Given the description of an element on the screen output the (x, y) to click on. 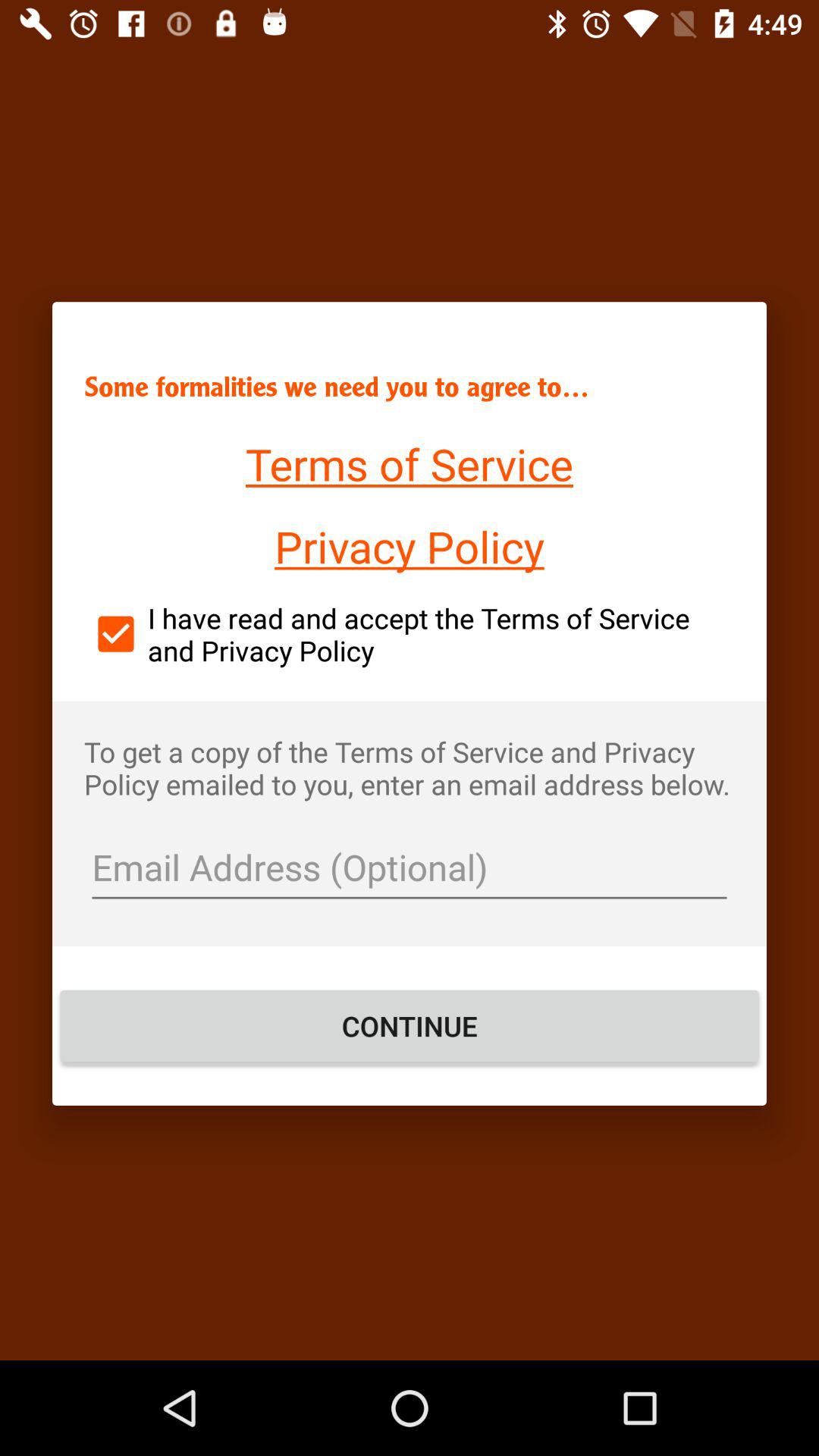
select the item at the bottom (409, 1025)
